Given the description of an element on the screen output the (x, y) to click on. 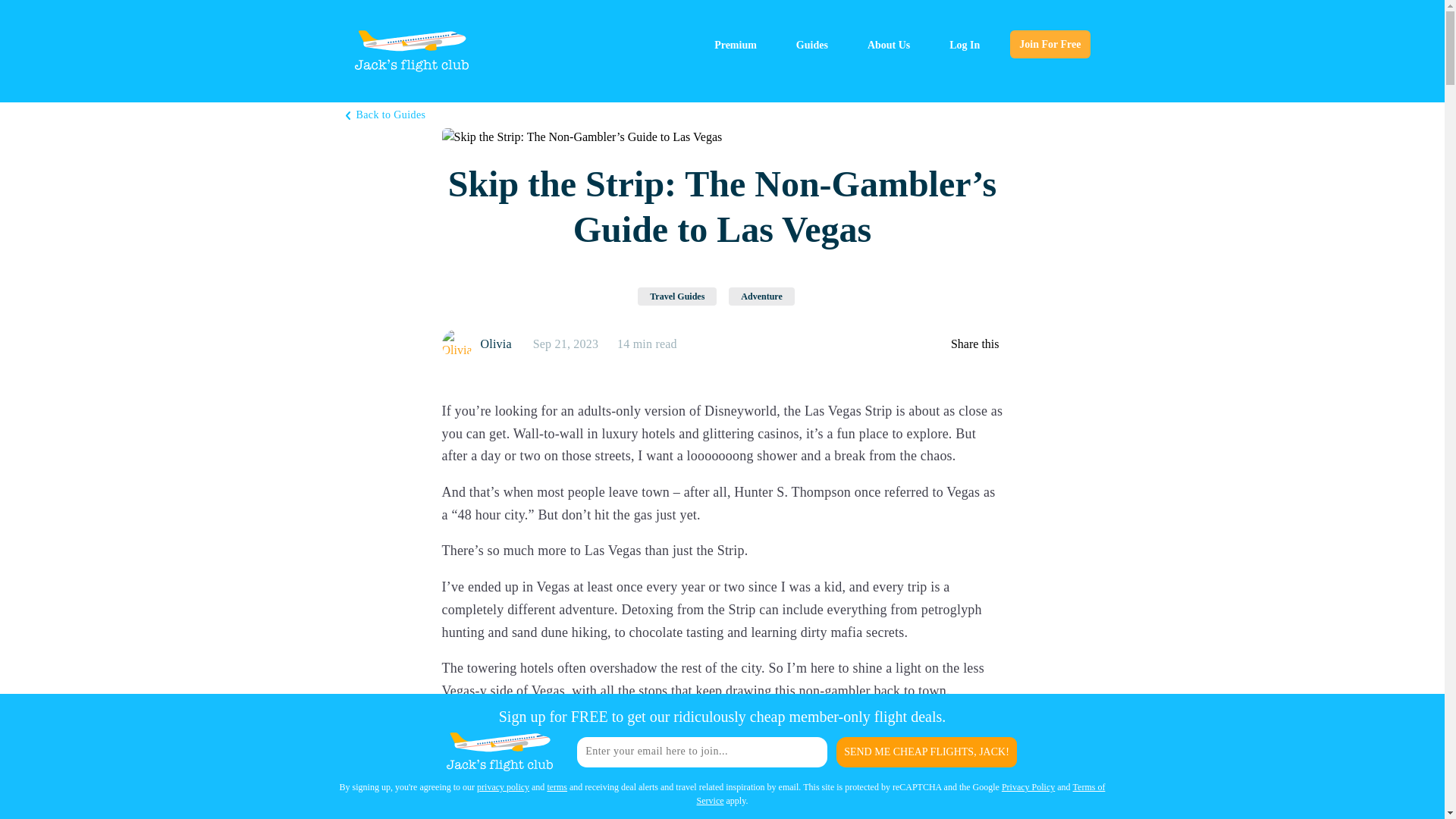
Join For Free (1049, 44)
Log In (964, 44)
About Us (888, 44)
Premium (734, 44)
Guides (812, 44)
Back to Guides (386, 115)
SEND ME CHEAP FLIGHTS, JACK! (925, 751)
